Given the description of an element on the screen output the (x, y) to click on. 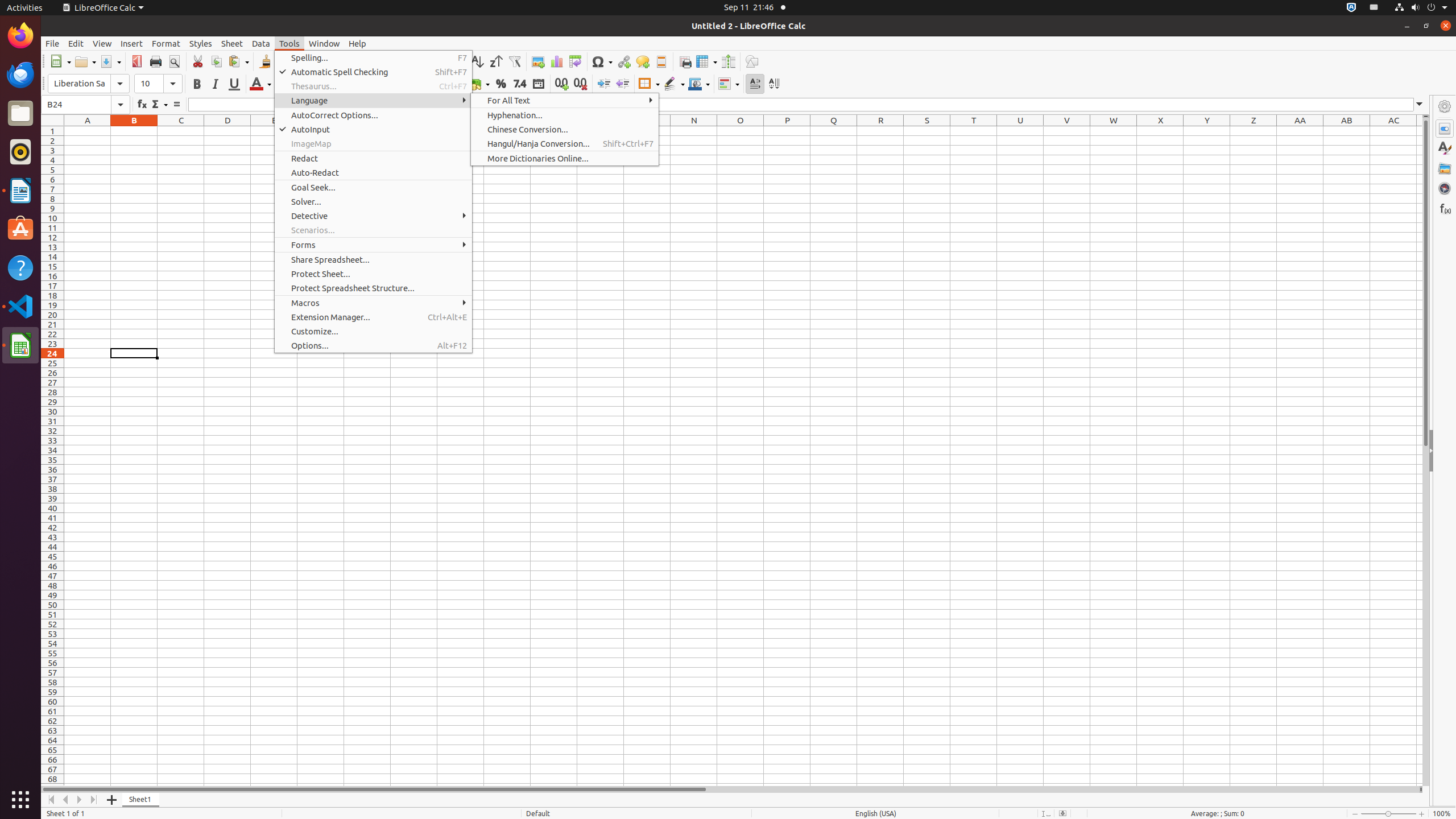
Sheet1 Element type: page-tab (140, 799)
Move To End Element type: push-button (94, 799)
Move To Home Element type: push-button (51, 799)
Detective Element type: menu (373, 215)
Font Name Element type: text (78, 83)
